Given the description of an element on the screen output the (x, y) to click on. 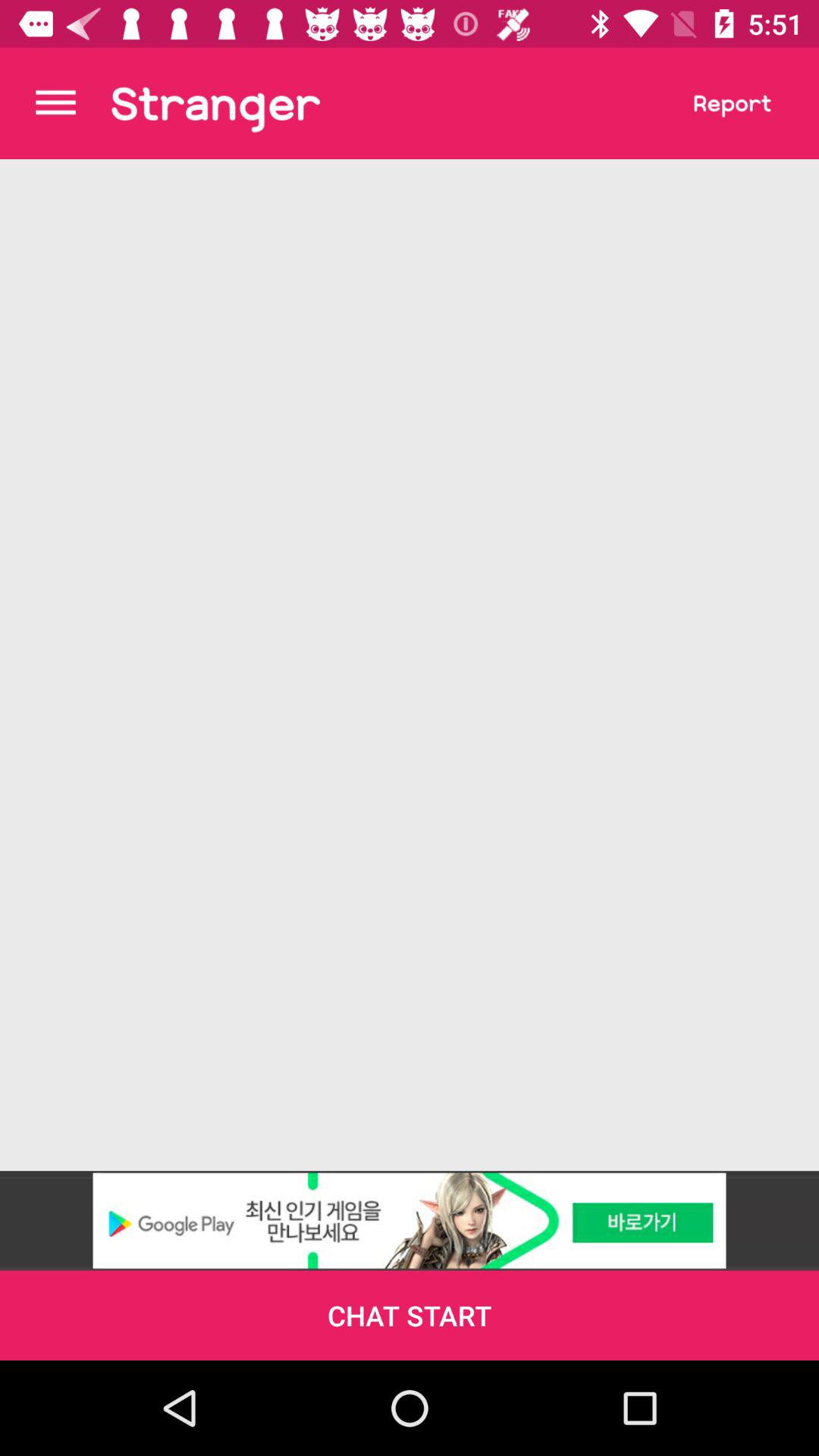
more options (55, 103)
